Given the description of an element on the screen output the (x, y) to click on. 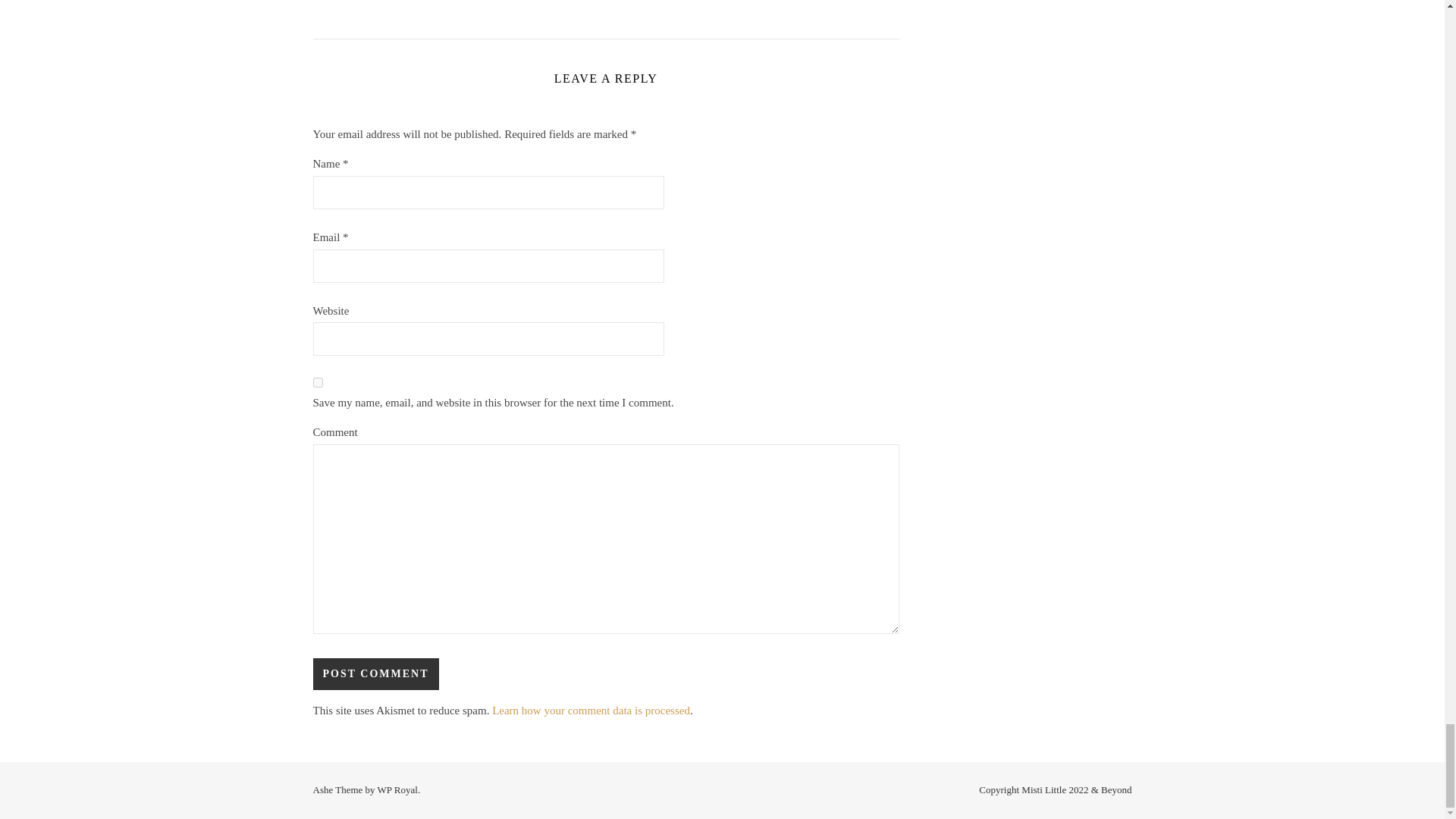
Post Comment (375, 674)
Post Comment (375, 674)
Learn how your comment data is processed (591, 710)
yes (317, 382)
